Given the description of an element on the screen output the (x, y) to click on. 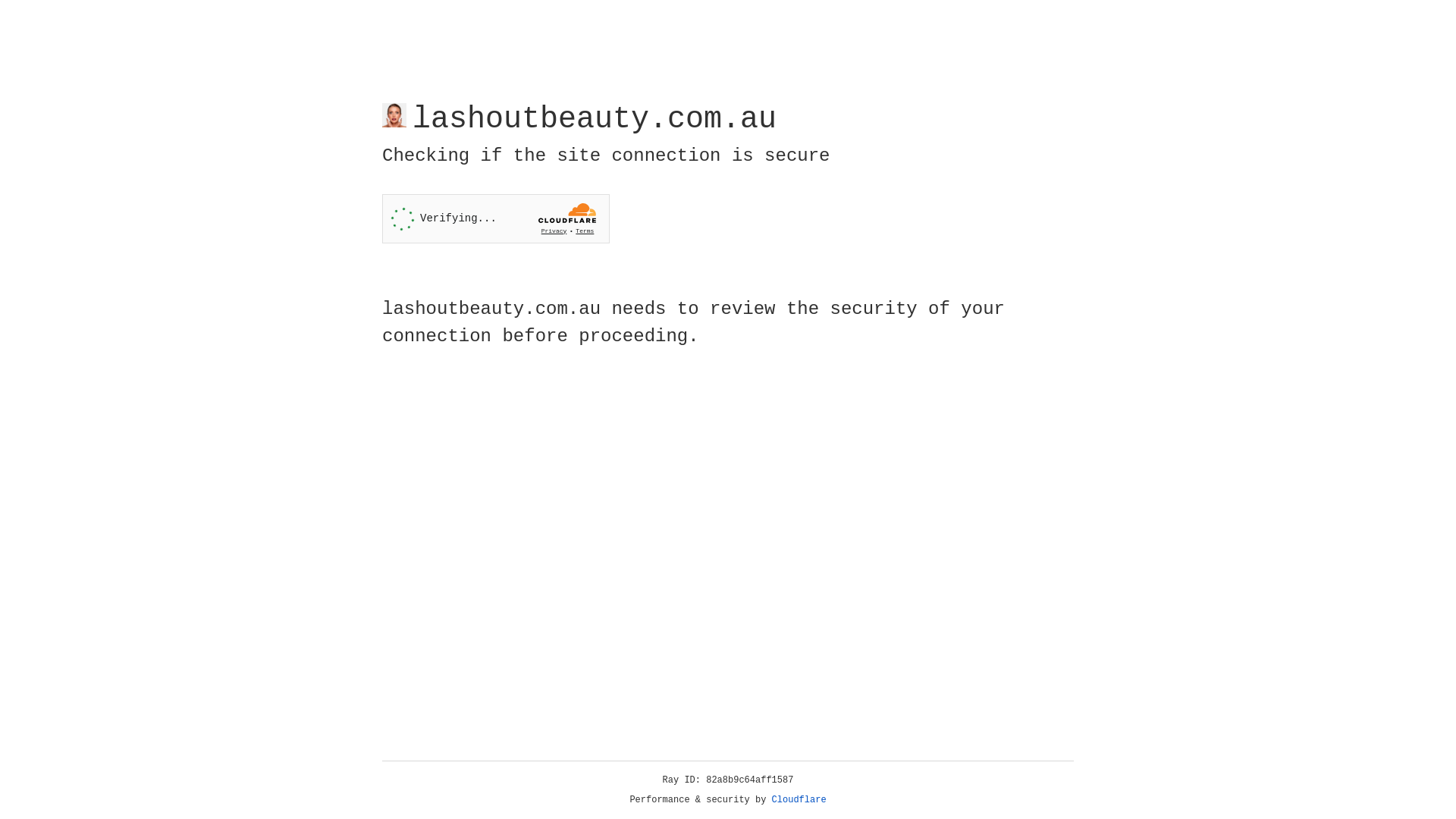
Cloudflare Element type: text (798, 799)
Widget containing a Cloudflare security challenge Element type: hover (495, 218)
